Given the description of an element on the screen output the (x, y) to click on. 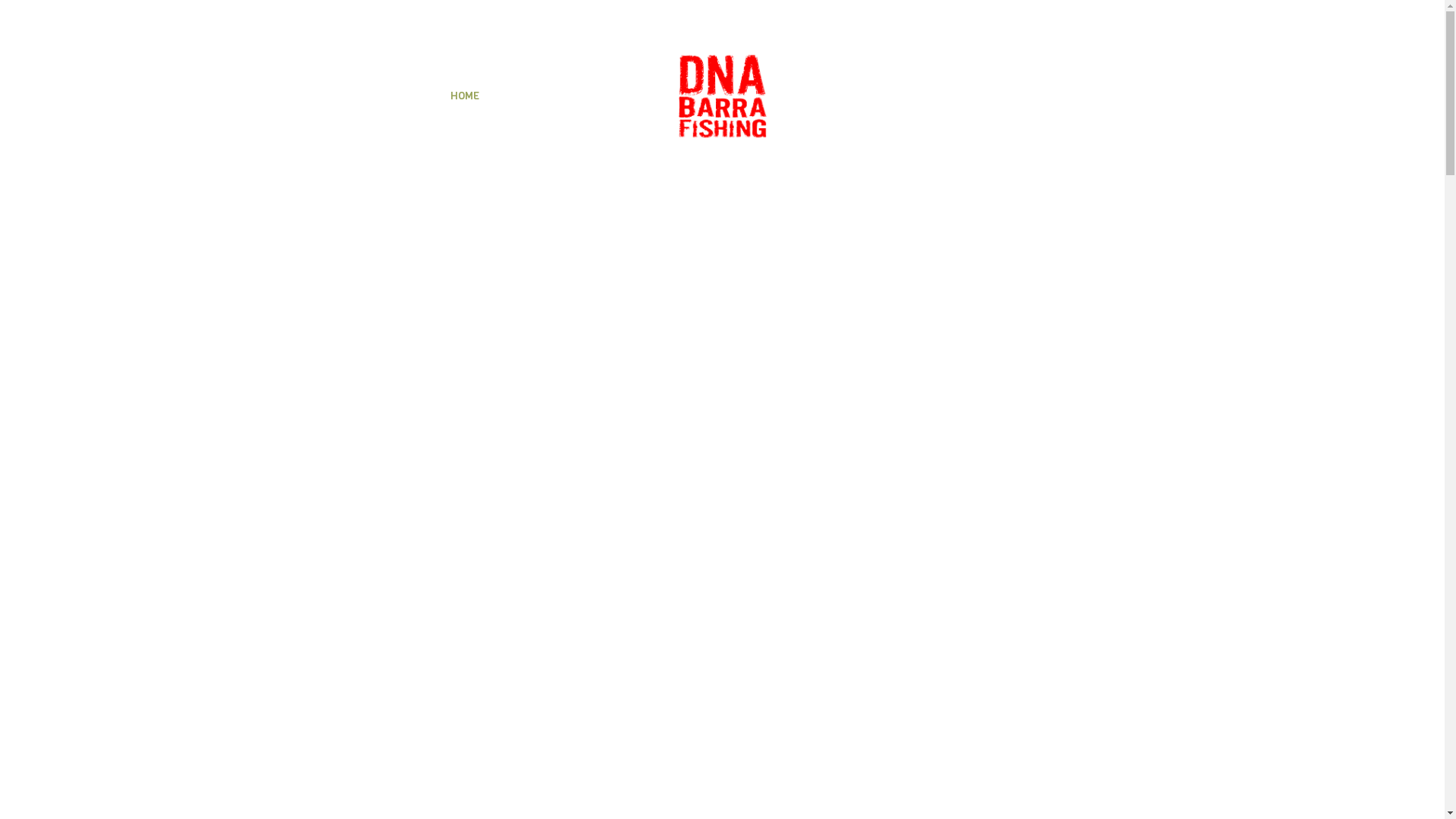
ABOUT US Element type: text (863, 96)
HOME Element type: text (464, 96)
08 8919 4619 Element type: text (85, 17)
FISHING OPTIONS Element type: text (563, 96)
CONTACT US Element type: text (961, 96)
